Given the description of an element on the screen output the (x, y) to click on. 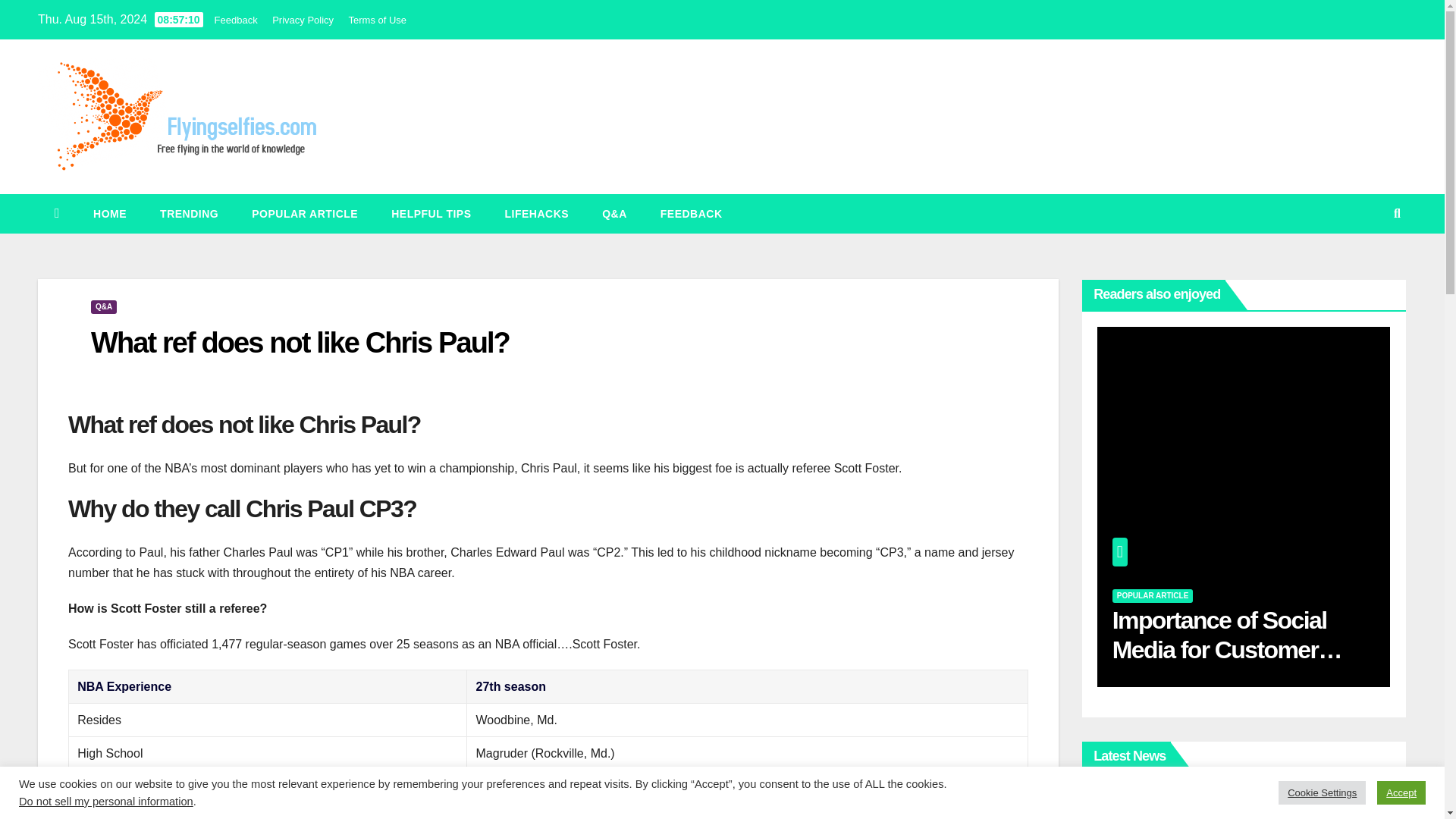
Privacy Policy (302, 19)
Feedback (691, 213)
Terms of Use (378, 19)
Home (109, 213)
Popular article (304, 213)
HELPFUL TIPS (430, 213)
POPULAR ARTICLE (1152, 595)
What ref does not like Chris Paul? (299, 342)
HOME (109, 213)
Trending (188, 213)
